Given the description of an element on the screen output the (x, y) to click on. 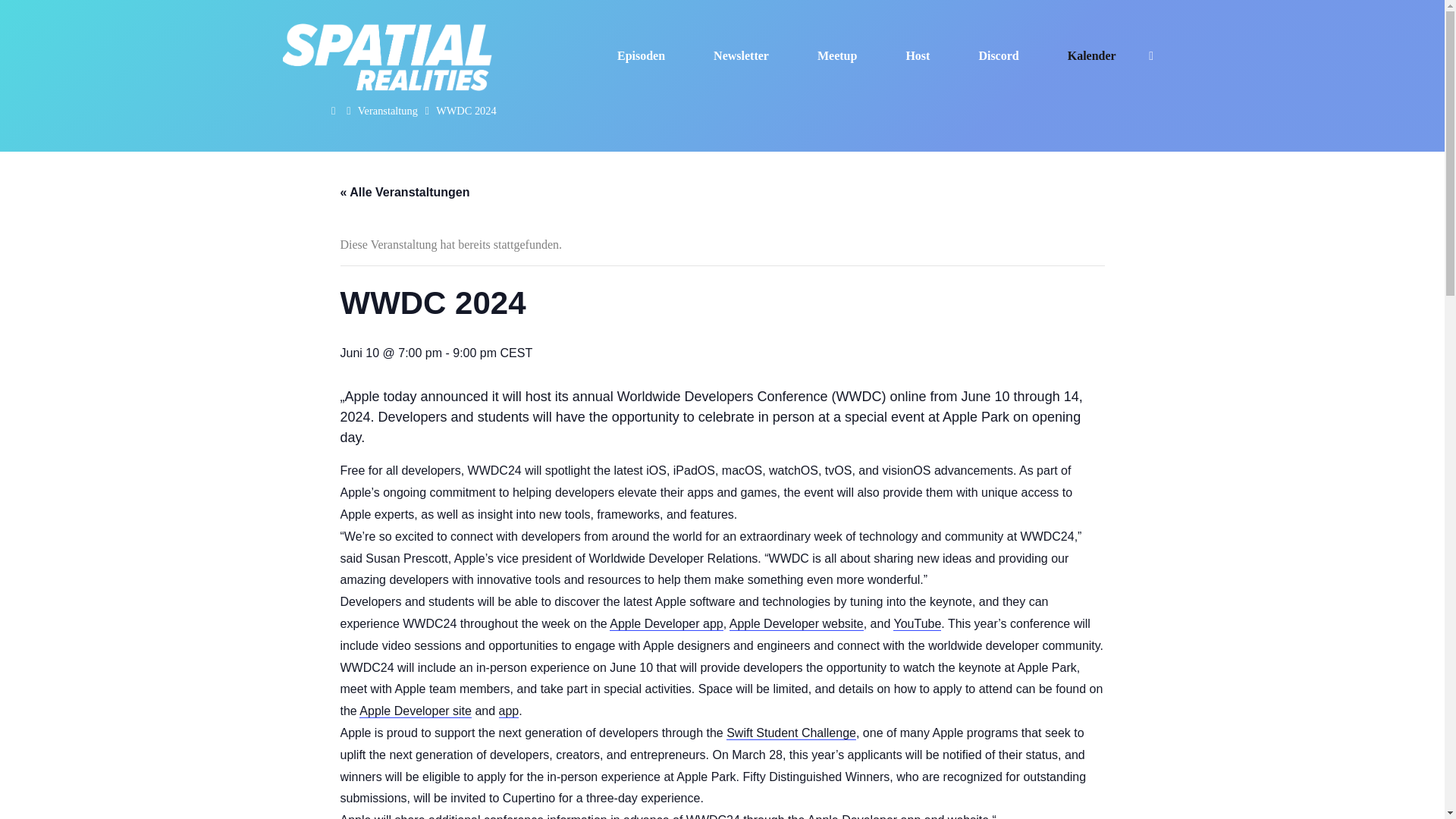
Discord (997, 55)
Spatial Realities Podcast (387, 55)
Apple Developer website (796, 623)
Kalender (1091, 55)
Episoden (640, 55)
Apple Developer app (666, 623)
YouTube (916, 623)
app (509, 711)
SPATIAL REALITIES PODCAST (570, 93)
Veranstaltung (387, 110)
